Given the description of an element on the screen output the (x, y) to click on. 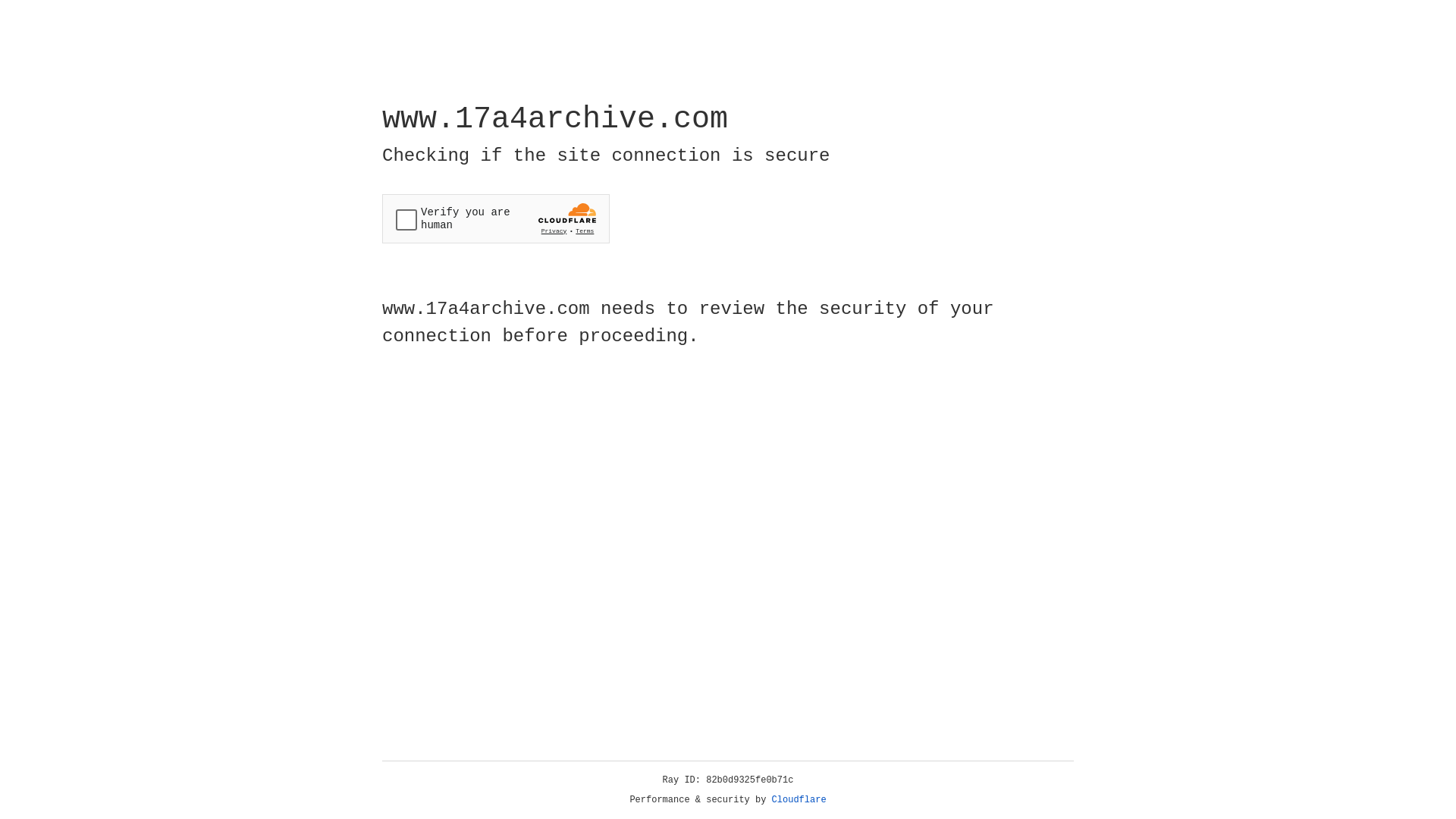
Cloudflare Element type: text (798, 799)
Widget containing a Cloudflare security challenge Element type: hover (495, 218)
